Given the description of an element on the screen output the (x, y) to click on. 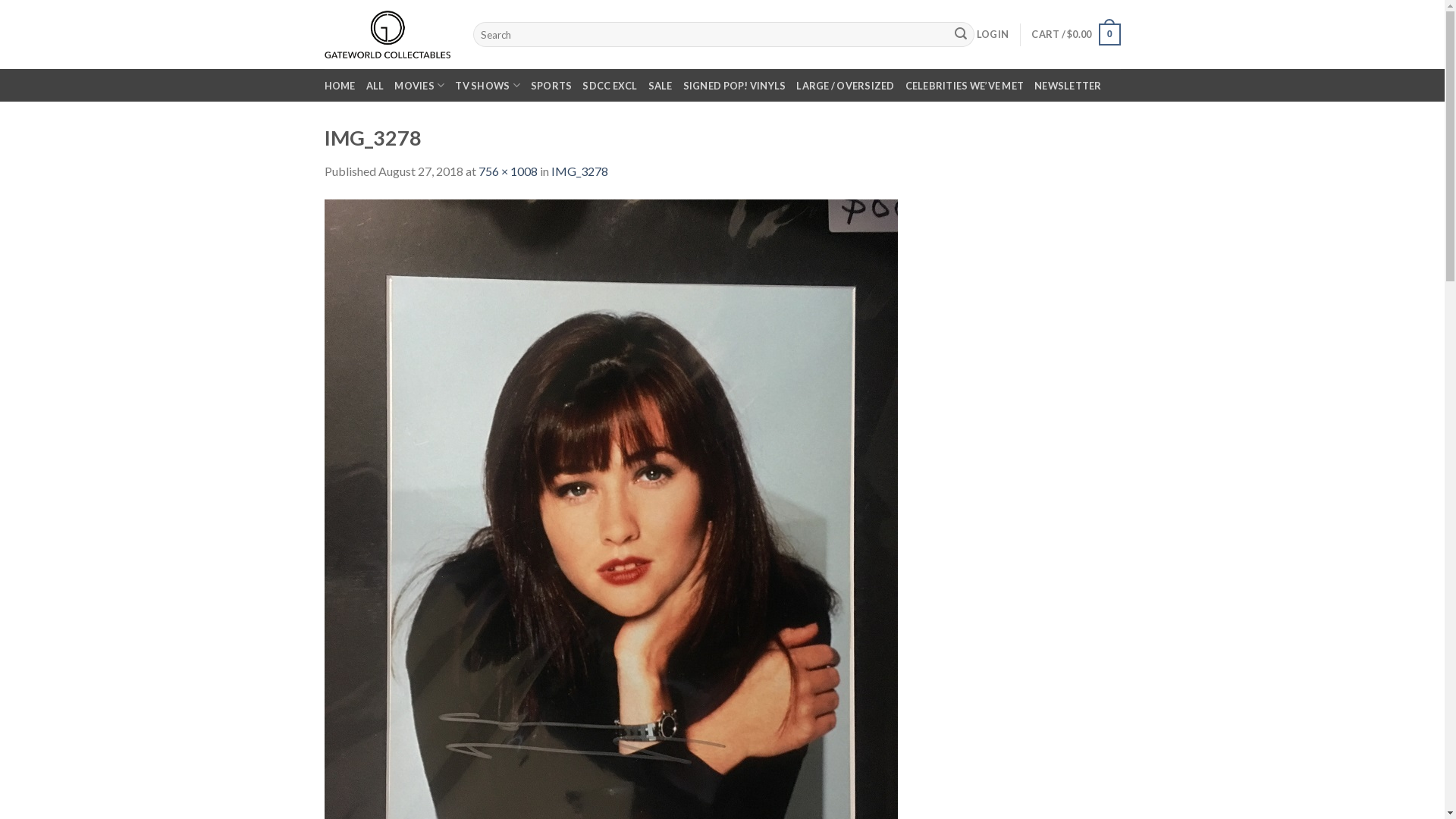
SDCC EXCL Element type: text (609, 84)
HOME Element type: text (339, 84)
MOVIES Element type: text (419, 85)
IMG_3278 Element type: text (578, 170)
ALL Element type: text (375, 84)
LOGIN Element type: text (992, 33)
NEWSLETTER Element type: text (1067, 84)
SALE Element type: text (660, 84)
TV SHOWS Element type: text (487, 85)
Search Element type: text (960, 34)
SIGNED POP! VINYLS Element type: text (734, 84)
IMG_3278 Element type: hover (610, 579)
Gateworld Collectables Element type: hover (387, 34)
SPORTS Element type: text (551, 84)
CART / $0.00
0 Element type: text (1075, 34)
LARGE / OVERSIZED Element type: text (845, 84)
